Given the description of an element on the screen output the (x, y) to click on. 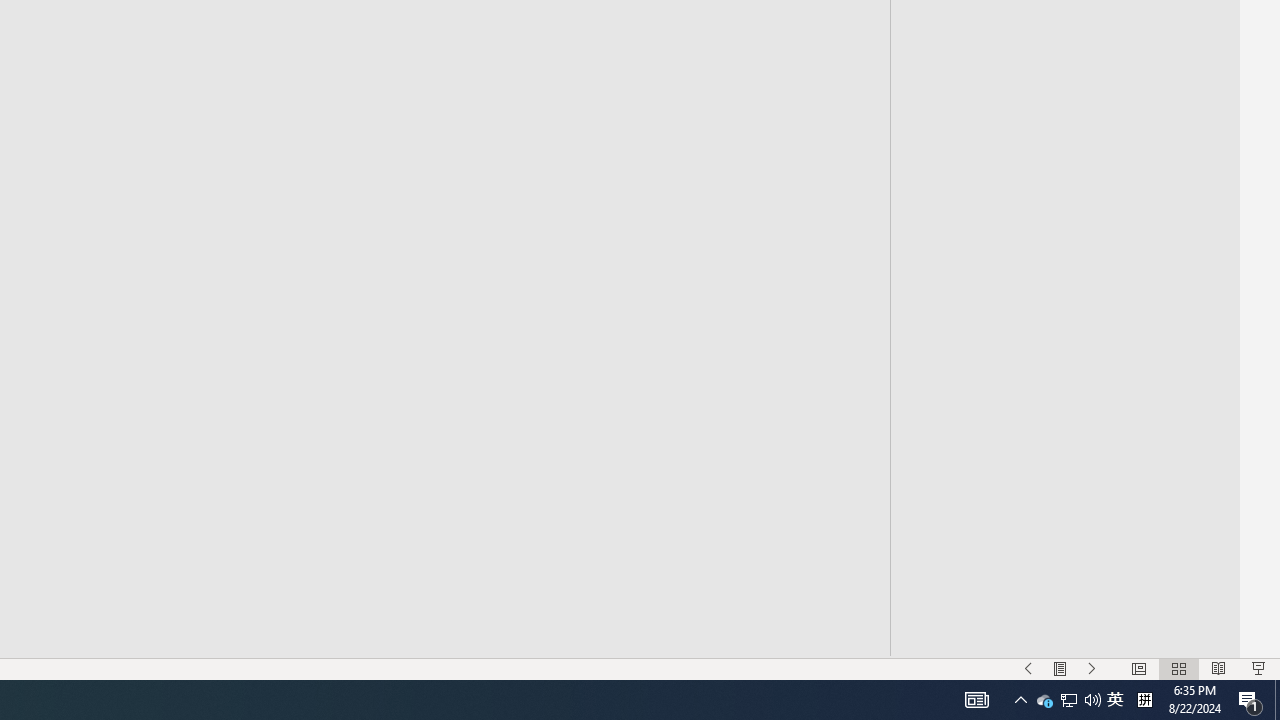
Slide Show Previous On (1028, 668)
Menu On (1060, 668)
Slide Show Next On (1092, 668)
